Given the description of an element on the screen output the (x, y) to click on. 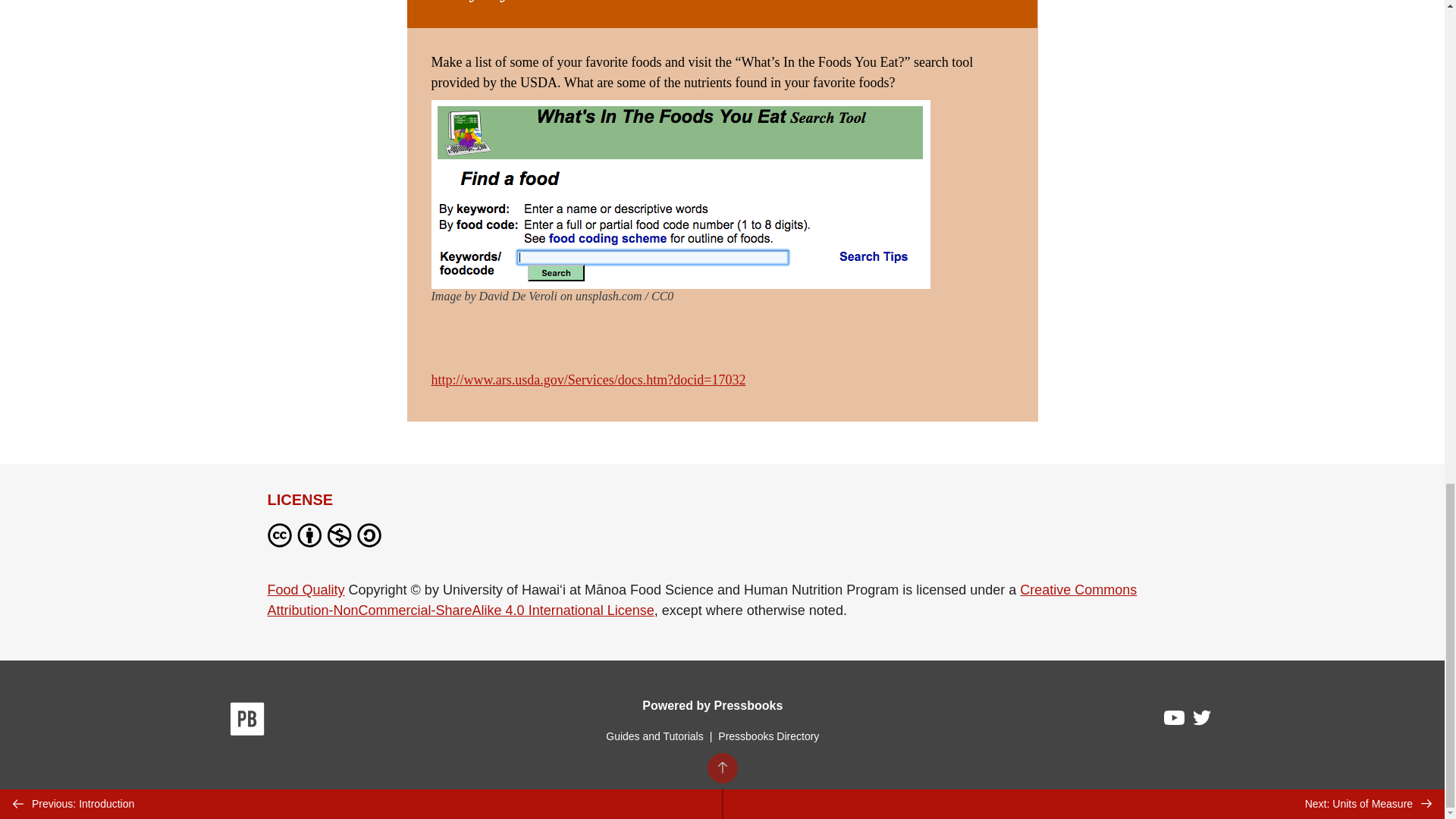
Food Quality (304, 589)
Powered by Pressbooks (712, 705)
Pressbooks Directory (768, 736)
Pressbooks on YouTube (1174, 721)
Guides and Tutorials (654, 736)
